Given the description of an element on the screen output the (x, y) to click on. 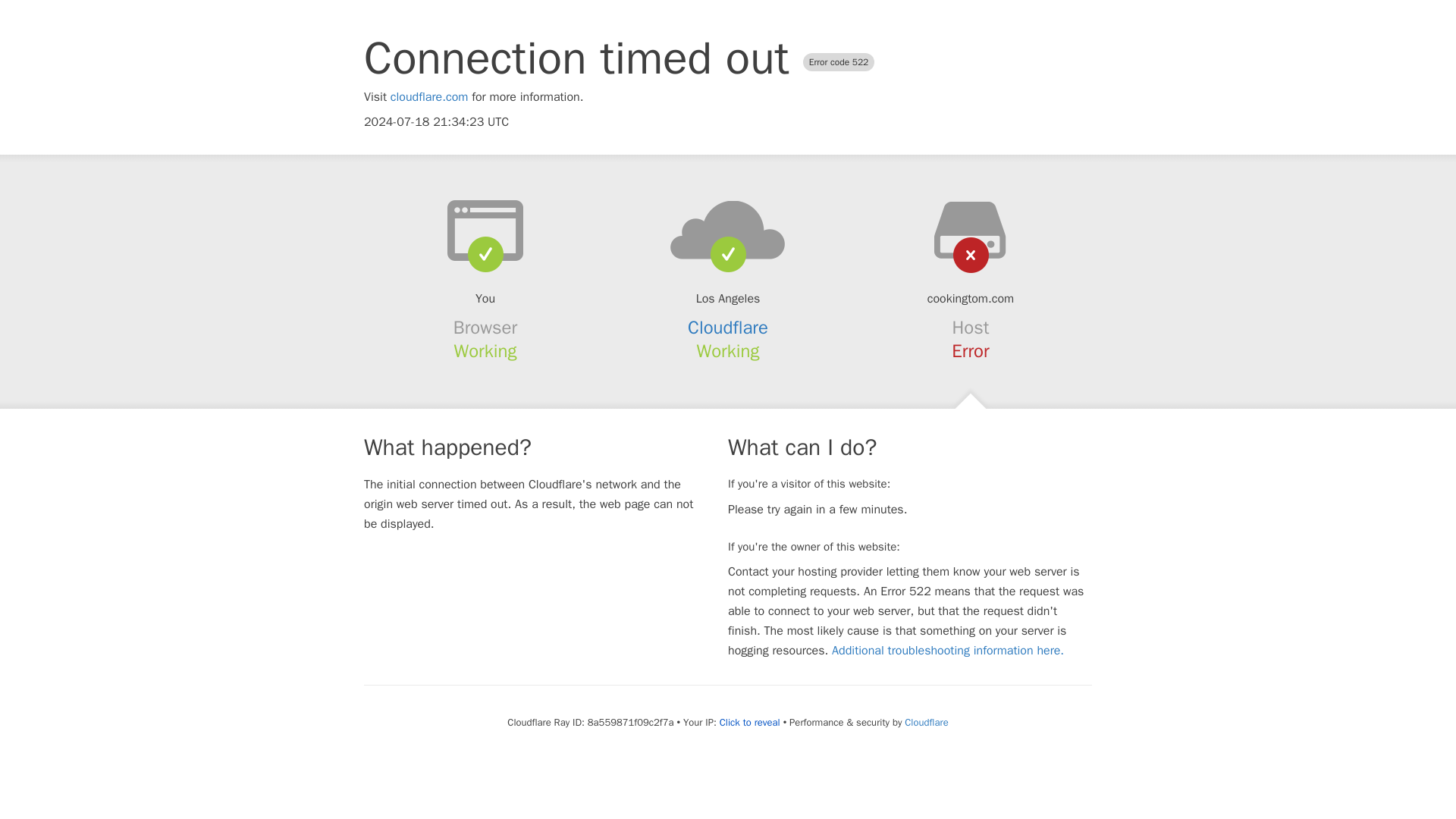
Cloudflare (925, 721)
Click to reveal (749, 722)
cloudflare.com (429, 96)
Cloudflare (727, 327)
Additional troubleshooting information here. (947, 650)
